Given the description of an element on the screen output the (x, y) to click on. 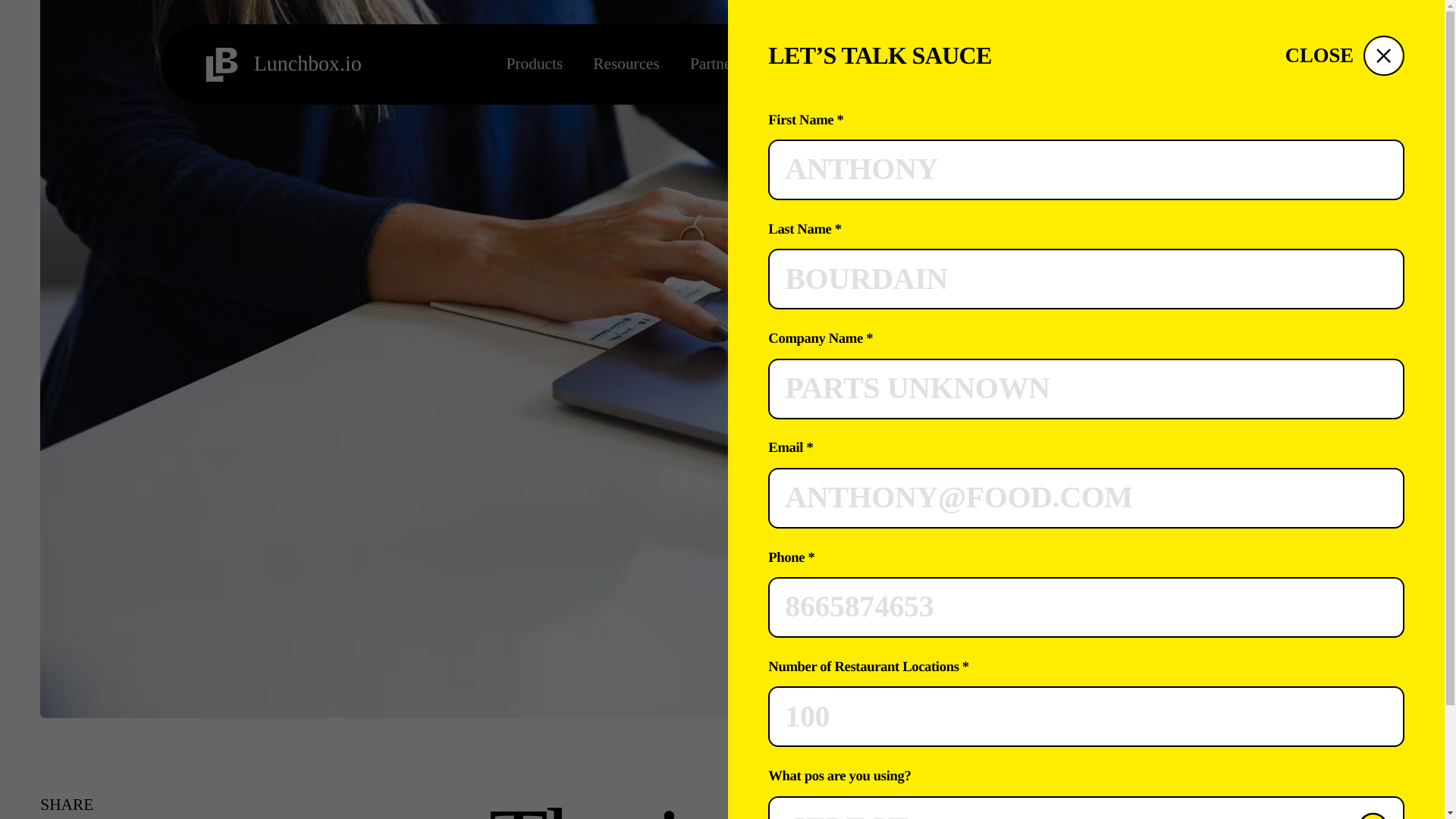
BOOK IT (1085, 90)
